Given the description of an element on the screen output the (x, y) to click on. 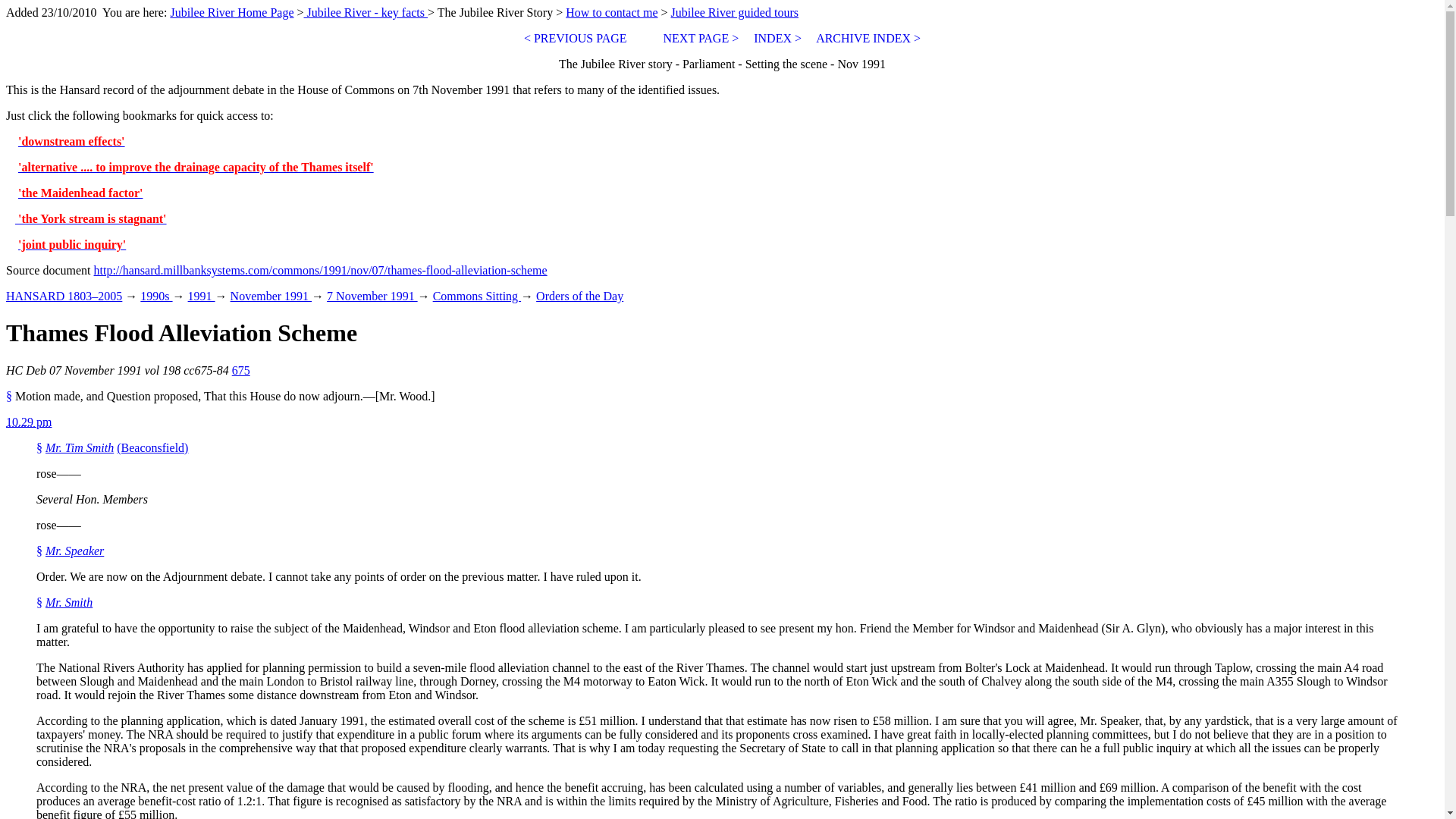
1991 (201, 295)
675 (240, 369)
7 November 1991 (371, 295)
'the Maidenhead factor' (79, 192)
1990s (155, 295)
Orders of the Day (579, 295)
November 1991 (271, 295)
10.29 pm (27, 421)
'joint public inquiry' (71, 244)
